Given the description of an element on the screen output the (x, y) to click on. 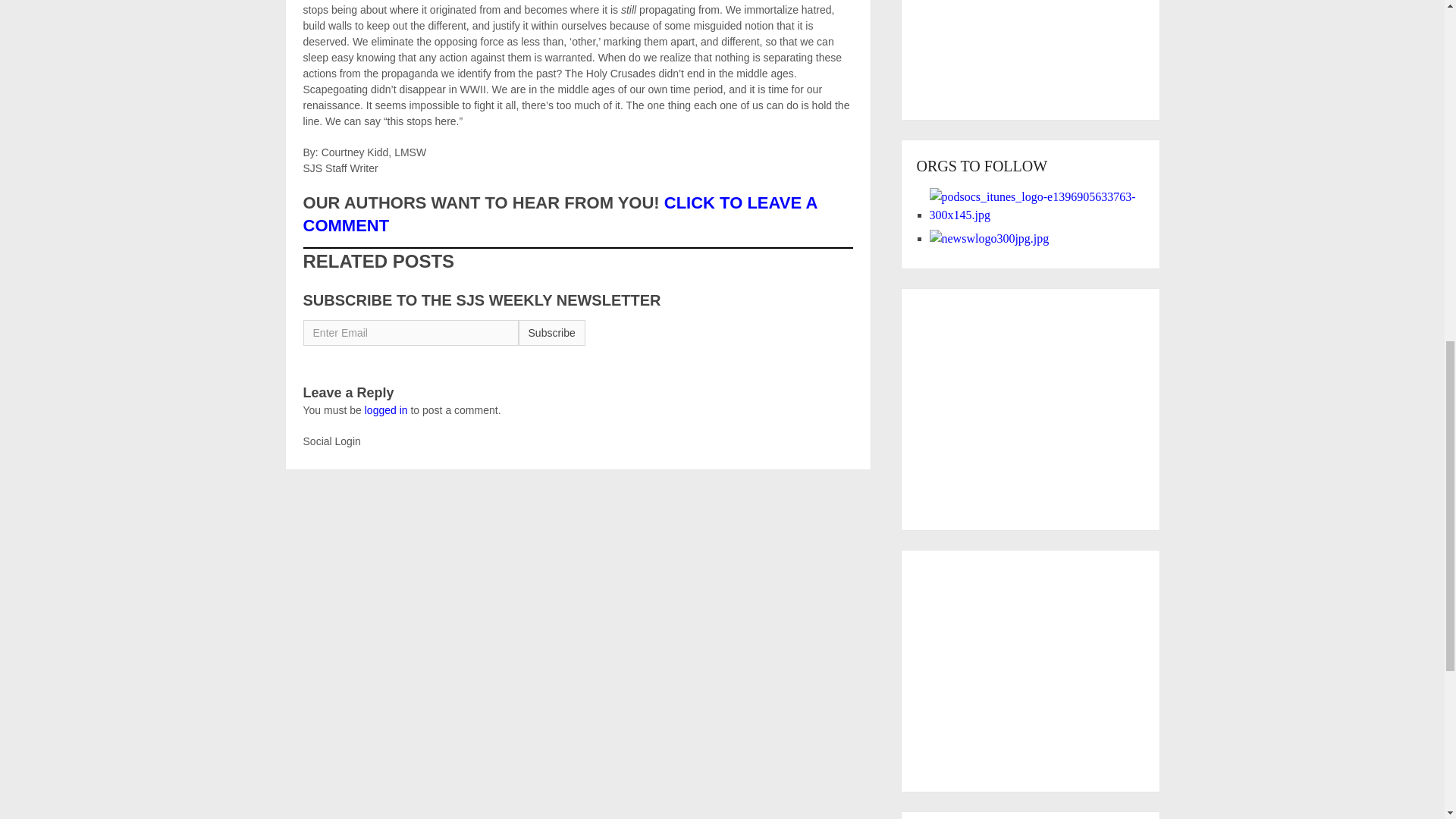
CLICK TO LEAVE A COMMENT (559, 214)
logged in (386, 410)
Subscribe (551, 332)
Subscribe (551, 332)
